Given the description of an element on the screen output the (x, y) to click on. 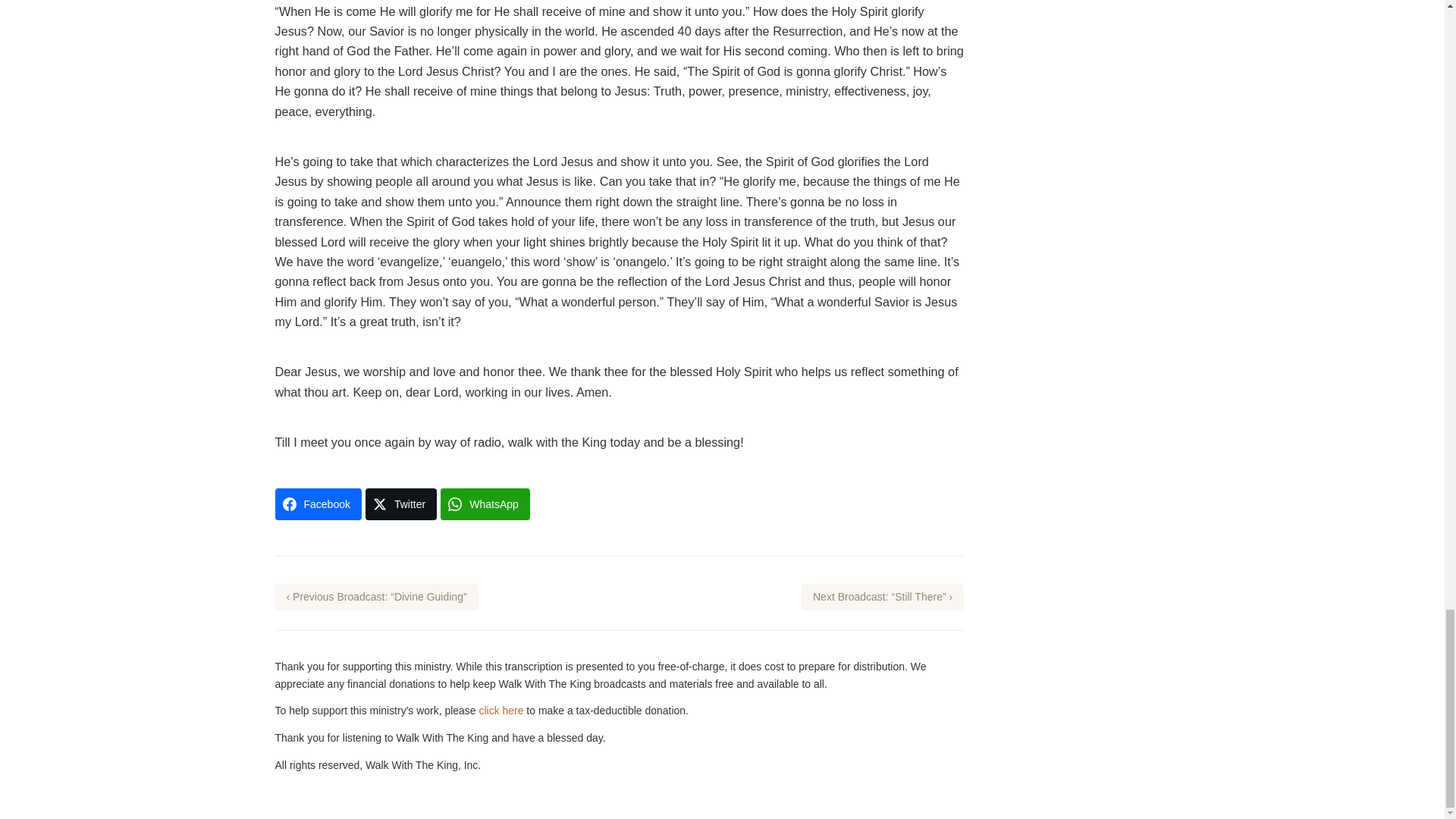
Share on Twitter (400, 504)
Share on Facebook (318, 504)
Share on WhatsApp (485, 504)
